Given the description of an element on the screen output the (x, y) to click on. 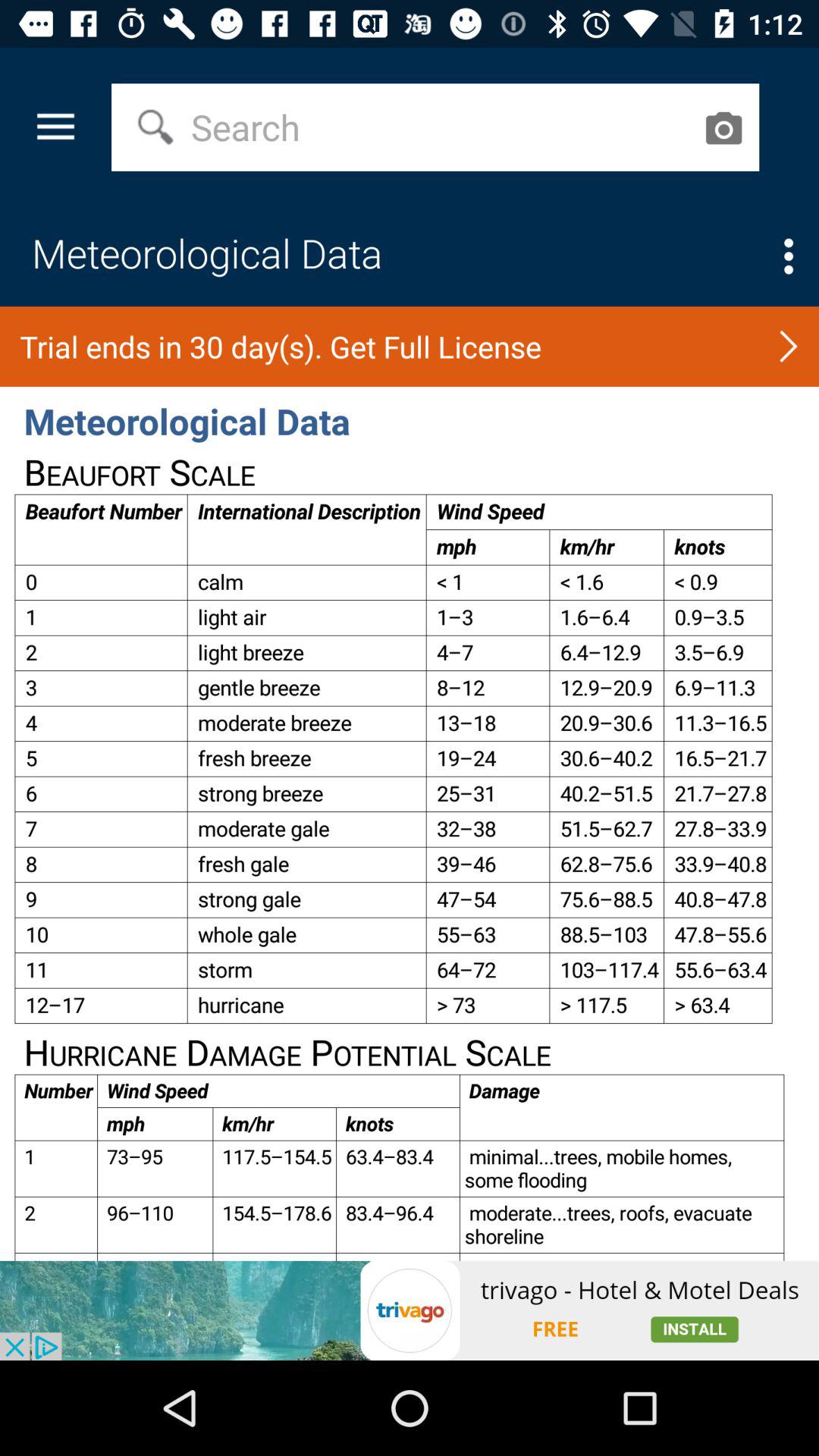
go to camera (723, 127)
